Given the description of an element on the screen output the (x, y) to click on. 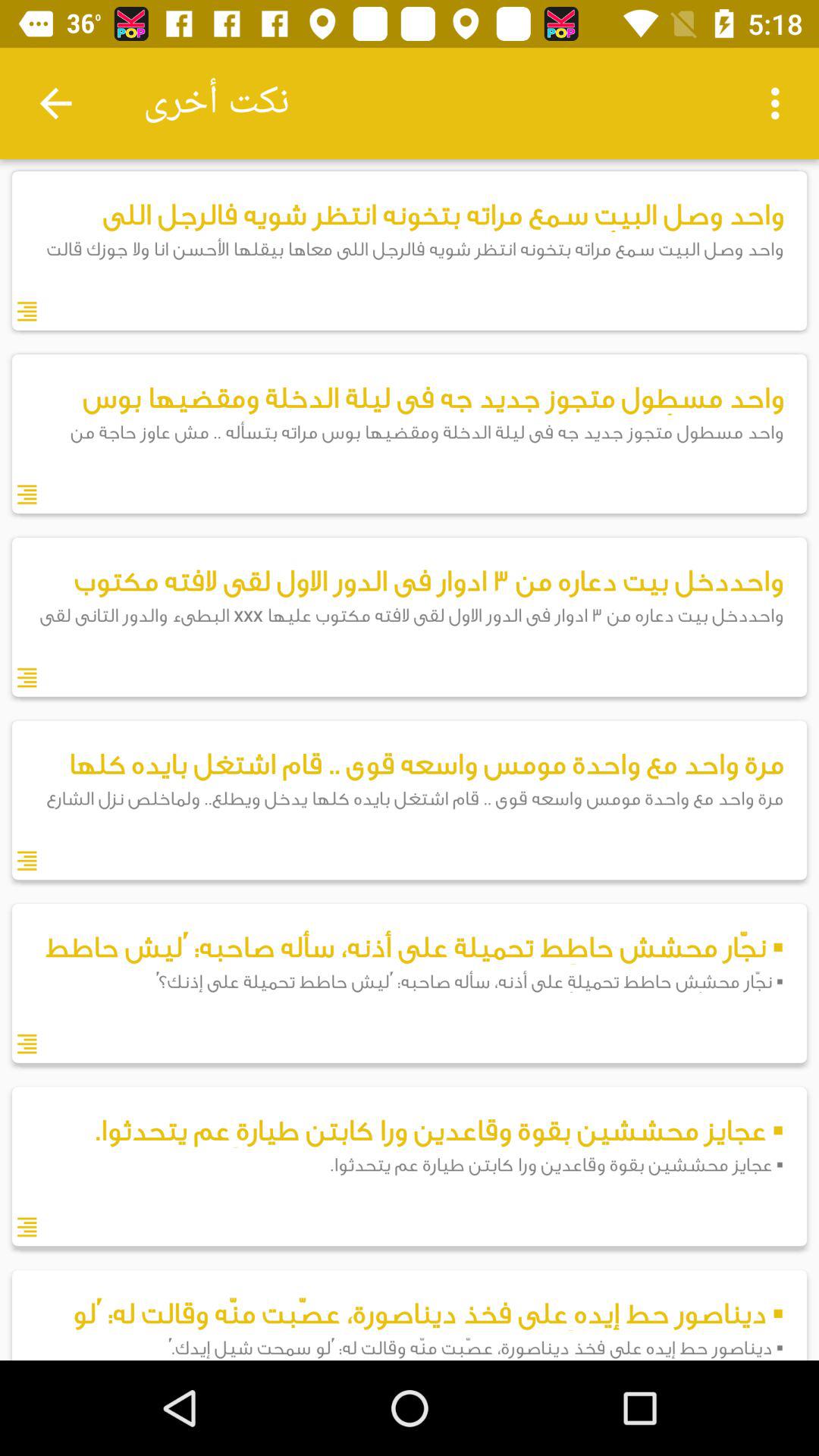
select the fourth option (409, 799)
